Given the description of an element on the screen output the (x, y) to click on. 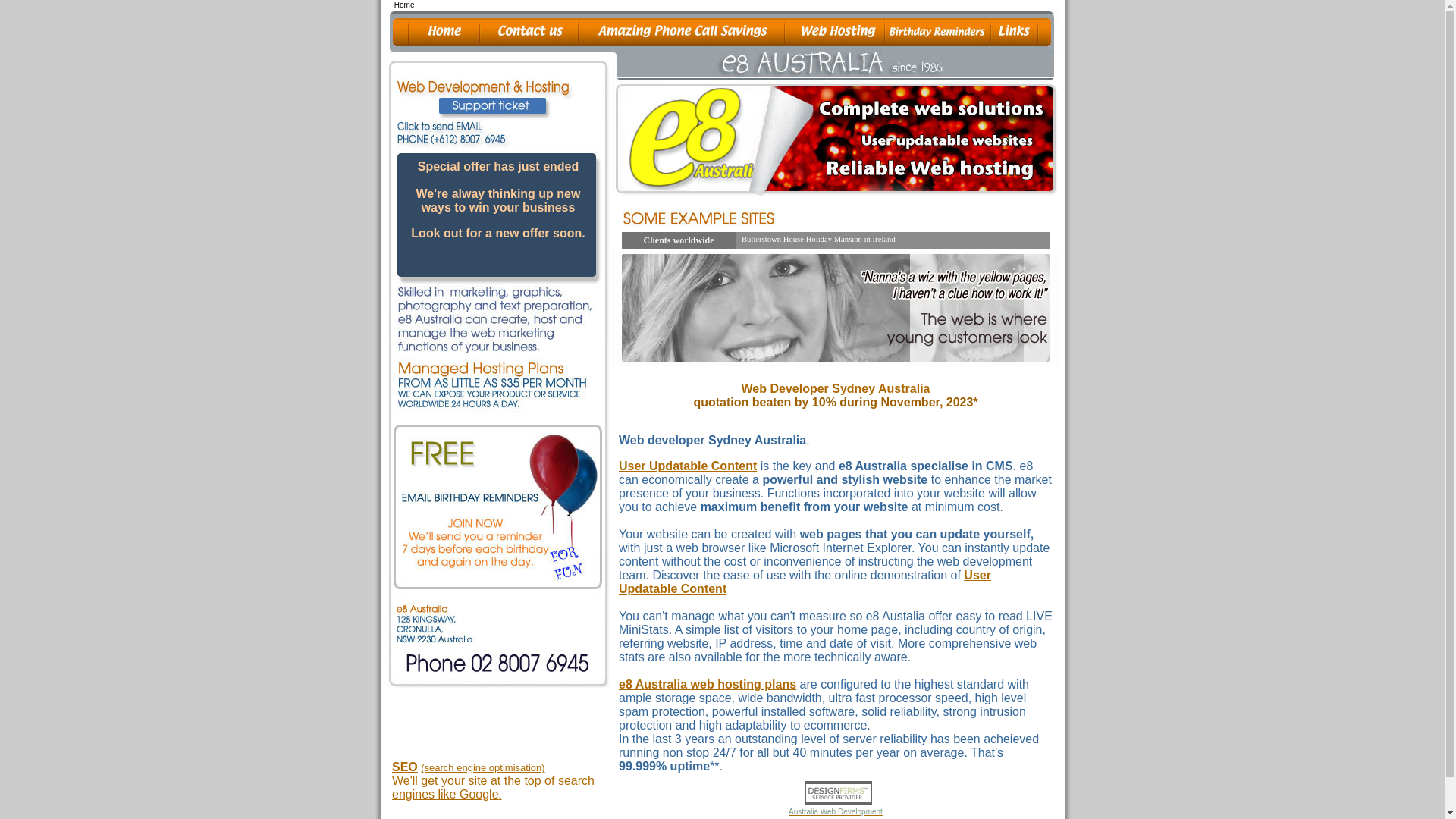
User Updatable Content Element type: text (687, 465)
User Updatable Content Element type: text (804, 581)
SEO Element type: text (404, 766)
Web Developer Sydney Australia Element type: text (835, 388)
. Element type: text (500, 793)
Australia Web Development Element type: text (835, 809)
e8 Australia web hosting plans Element type: text (707, 683)
